Given the description of an element on the screen output the (x, y) to click on. 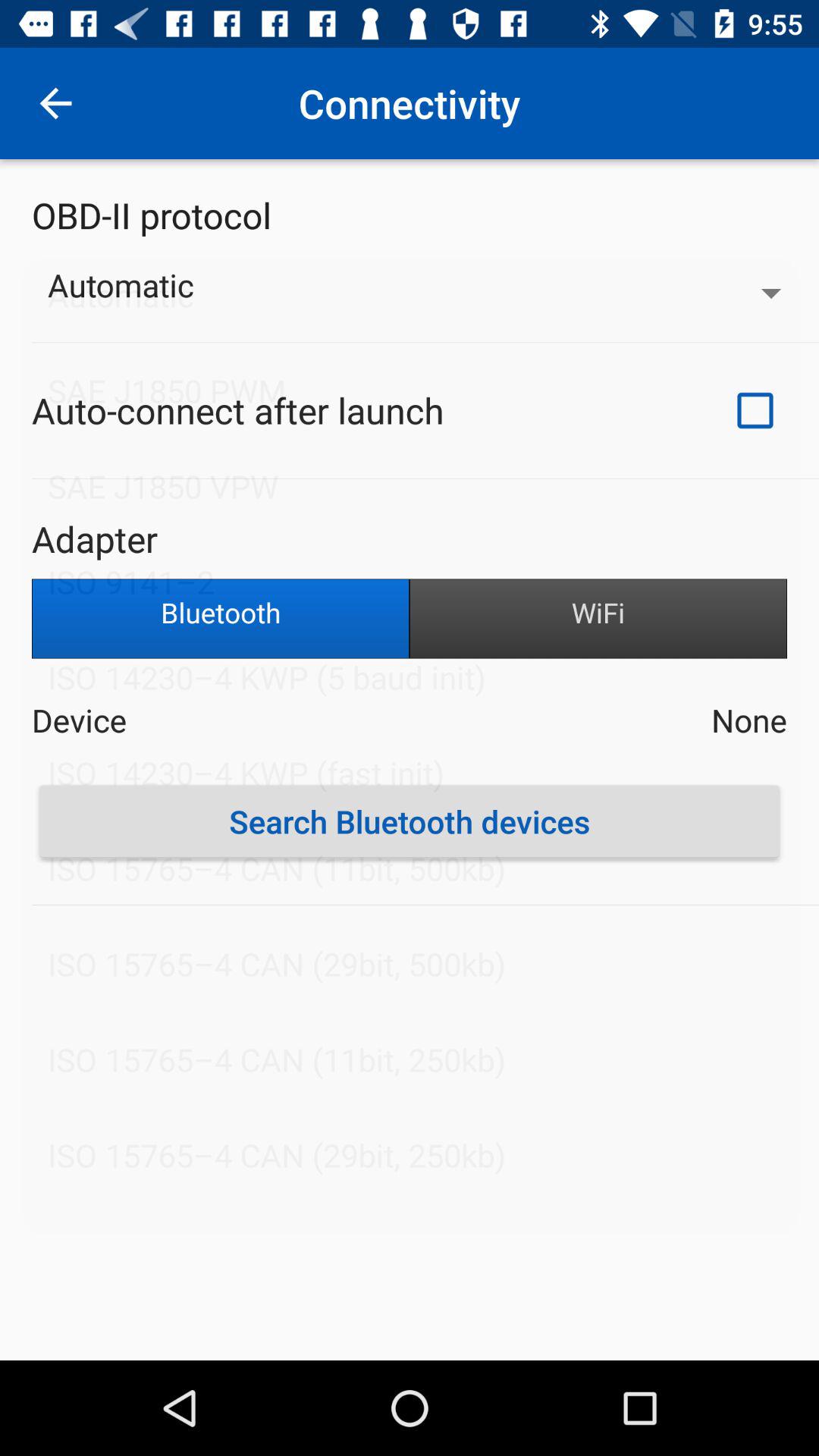
tick box (755, 410)
